Given the description of an element on the screen output the (x, y) to click on. 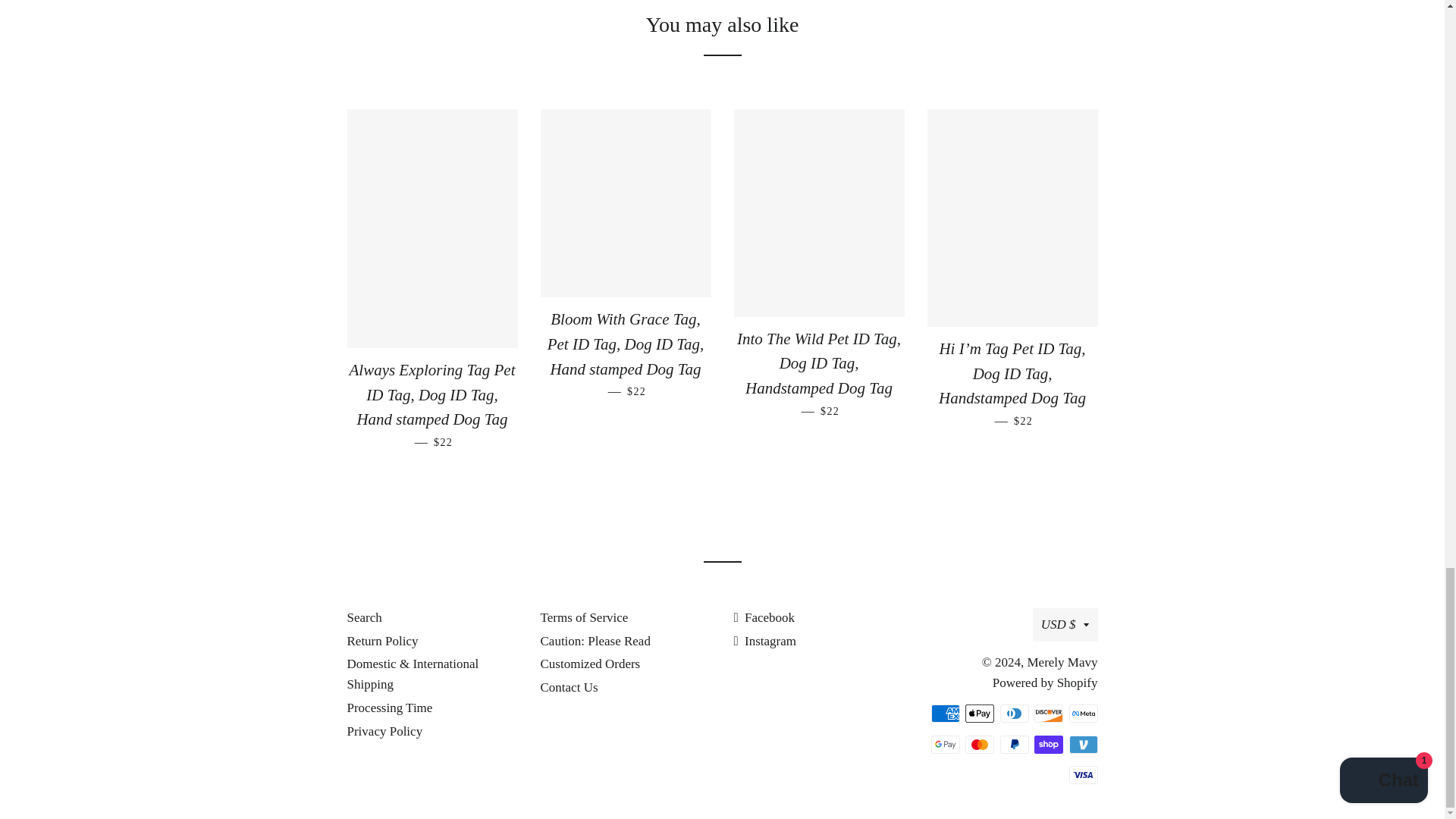
Apple Pay (979, 713)
Visa (1082, 774)
Venmo (1082, 744)
PayPal (1012, 744)
Diners Club (1012, 713)
Merely Mavy on Facebook (763, 617)
American Express (945, 713)
Meta Pay (1082, 713)
Shop Pay (1047, 744)
Google Pay (945, 744)
Mastercard (979, 744)
Merely Mavy on Instagram (764, 640)
Discover (1047, 713)
